Given the description of an element on the screen output the (x, y) to click on. 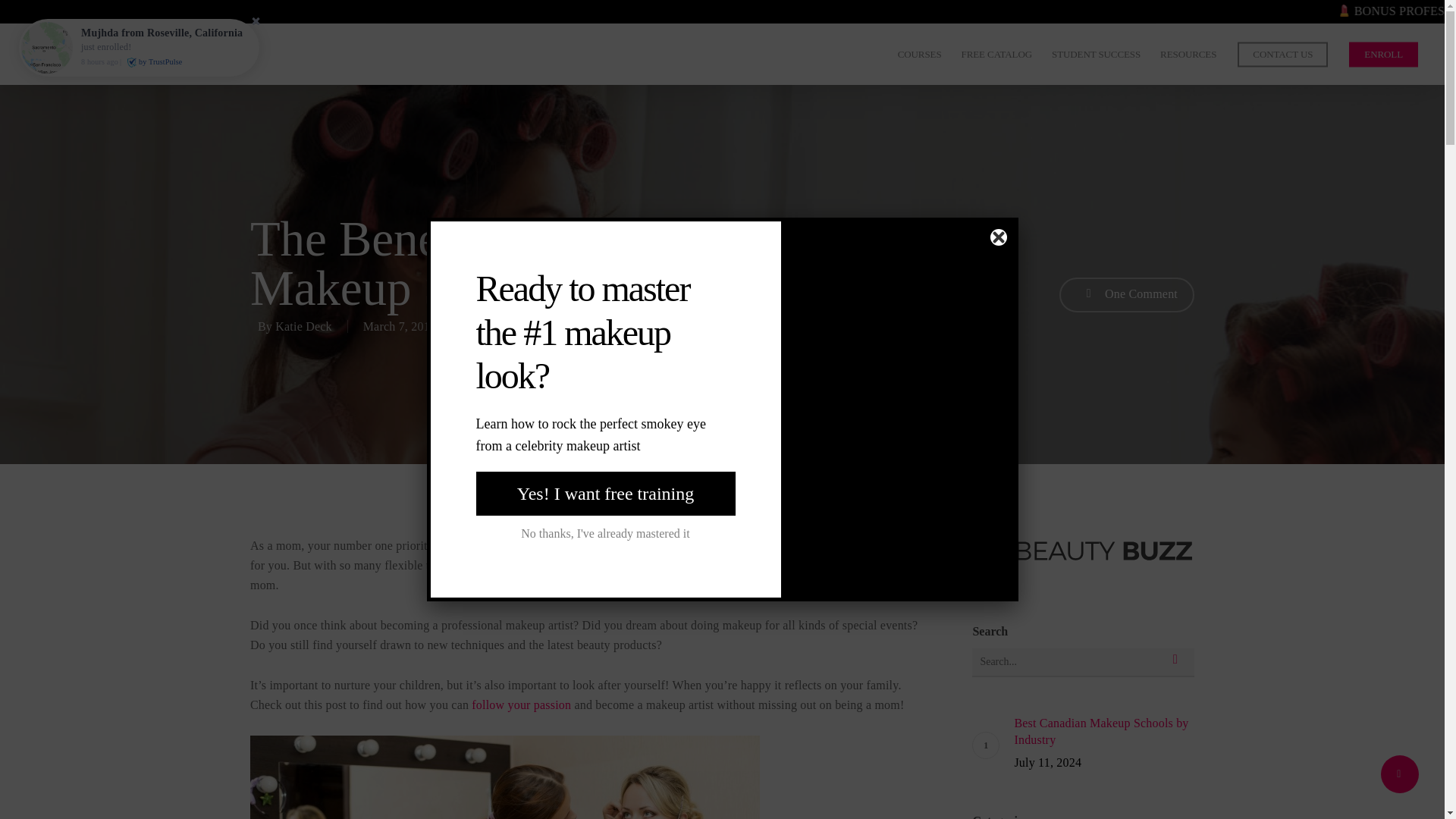
Your Makeup Career (606, 326)
LiveChat chat widget (1412, 787)
RESOURCES (1187, 54)
FREE CATALOG (997, 54)
No thanks, I've already mastered it (605, 533)
Posts by Katie Deck (303, 326)
STUDENT SUCCESS (1096, 54)
Close (998, 237)
Katie Deck (303, 326)
ENROLL (1383, 54)
Yes! I want free training (605, 493)
One Comment (1126, 294)
CONTACT US (1282, 54)
COURSES (920, 54)
follow your passion (520, 704)
